Given the description of an element on the screen output the (x, y) to click on. 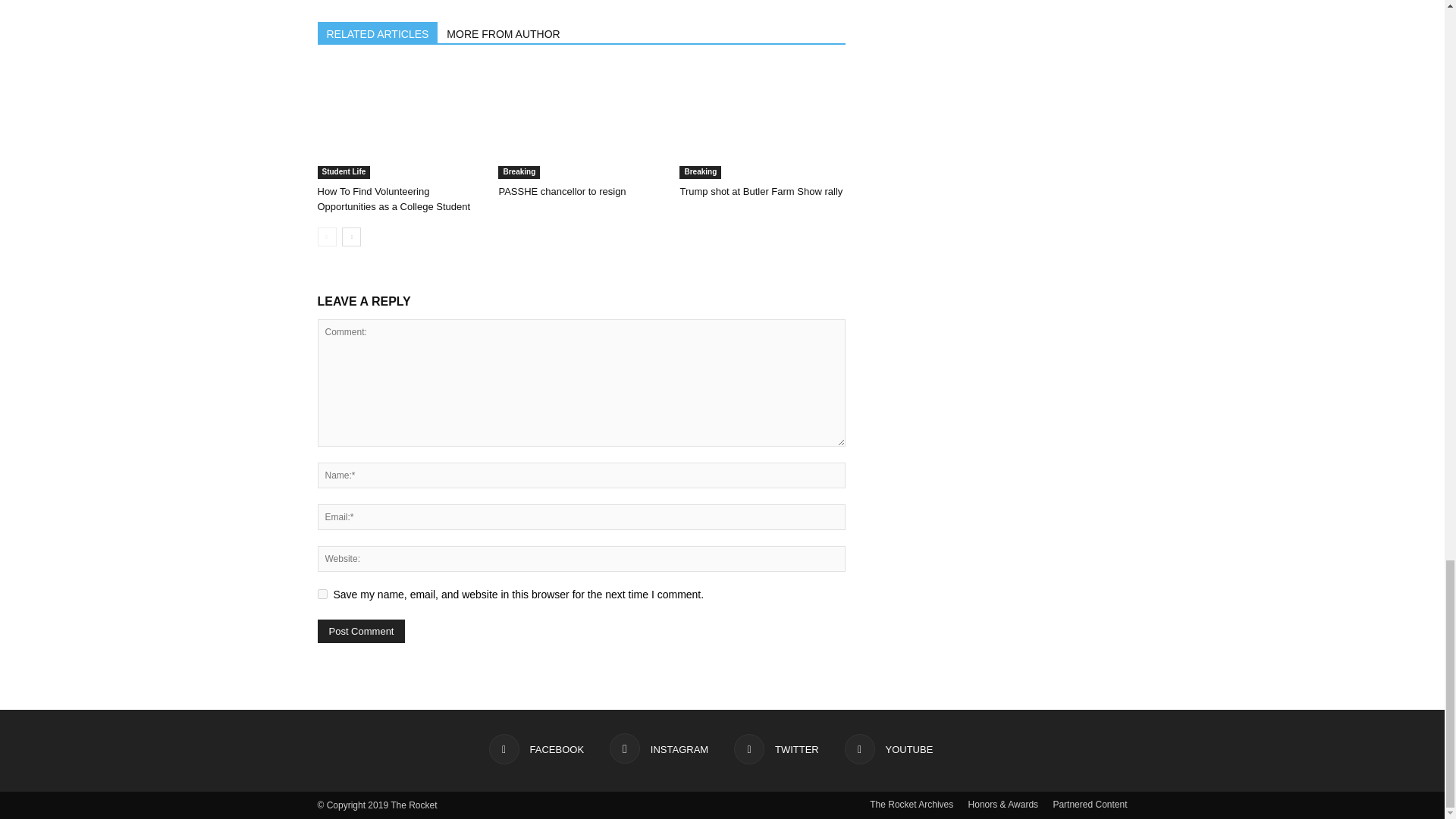
yes (321, 593)
PASSHE chancellor to resign (580, 122)
How To Find Volunteering Opportunities as a College Student (393, 198)
How To Find Volunteering Opportunities as a College Student (399, 122)
Post Comment (360, 630)
